Given the description of an element on the screen output the (x, y) to click on. 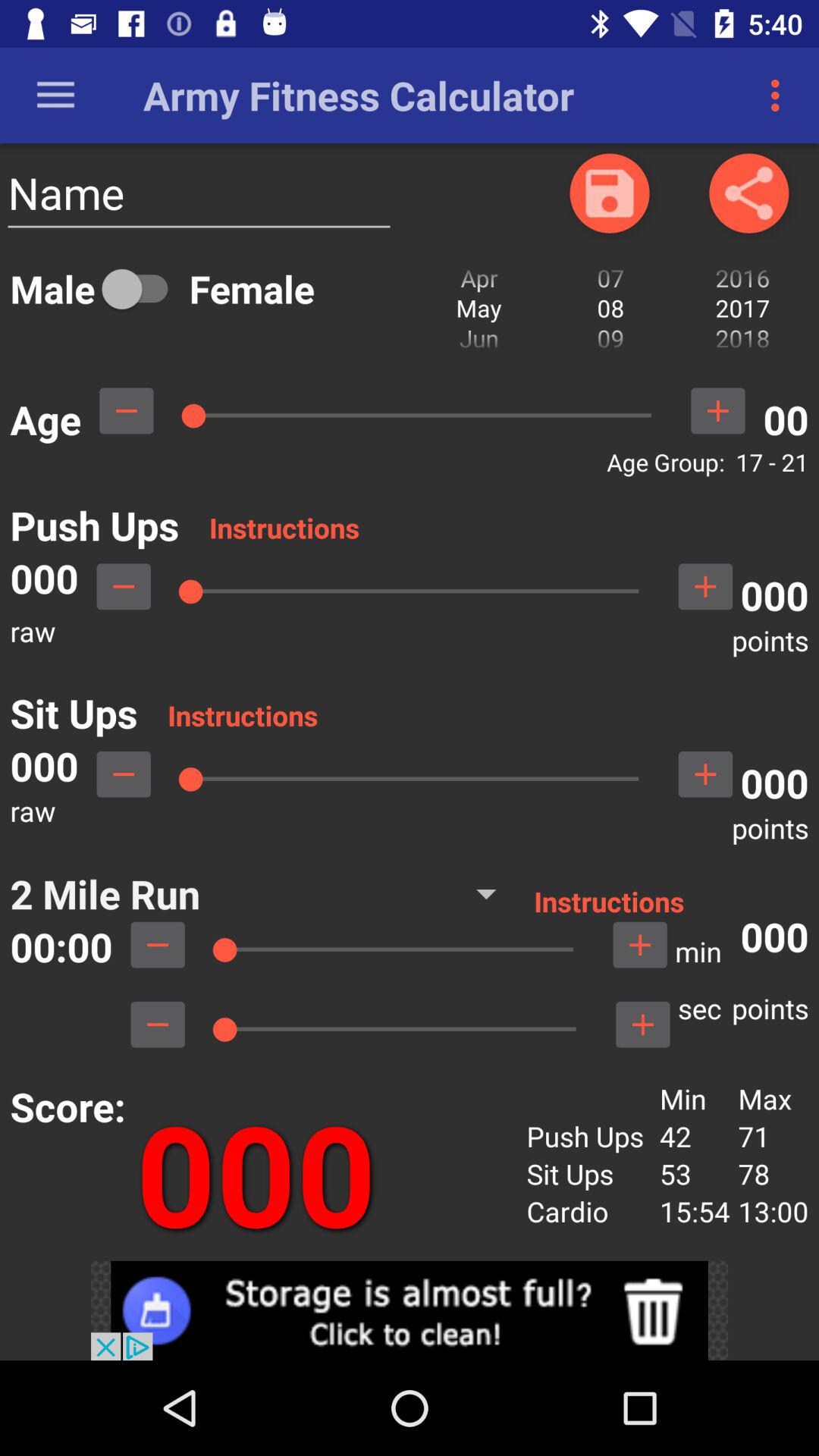
choose age (126, 410)
